Given the description of an element on the screen output the (x, y) to click on. 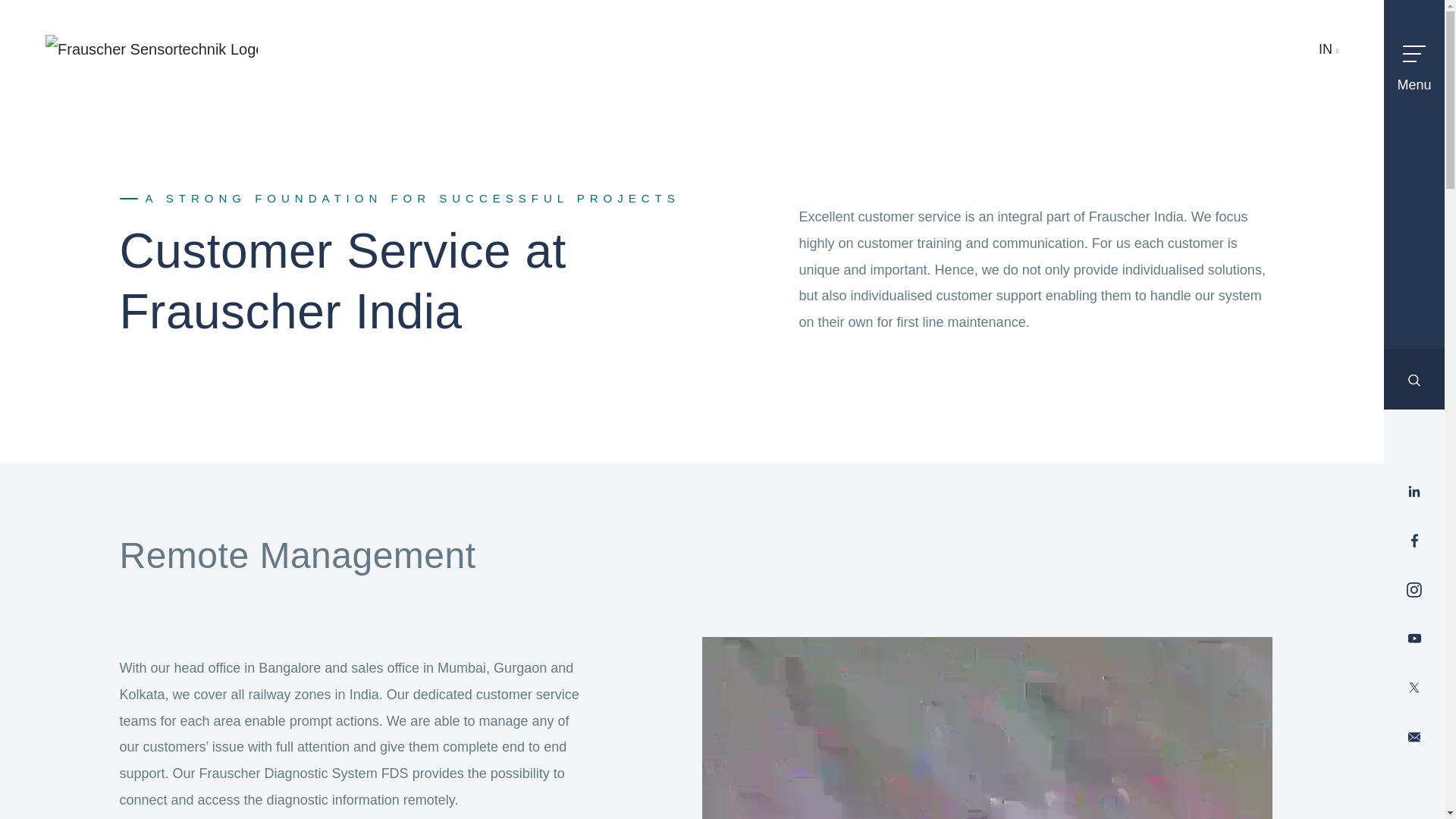
Combined Shape Created with Sketch. (1414, 379)
Mail (1414, 736)
YouTube (1414, 638)
Frauscher Sensortechnik Logo (151, 49)
LinkedIn (1414, 491)
Instagram (1414, 589)
Twitter (1414, 687)
Facebook (1414, 540)
IN (1328, 48)
